Given the description of an element on the screen output the (x, y) to click on. 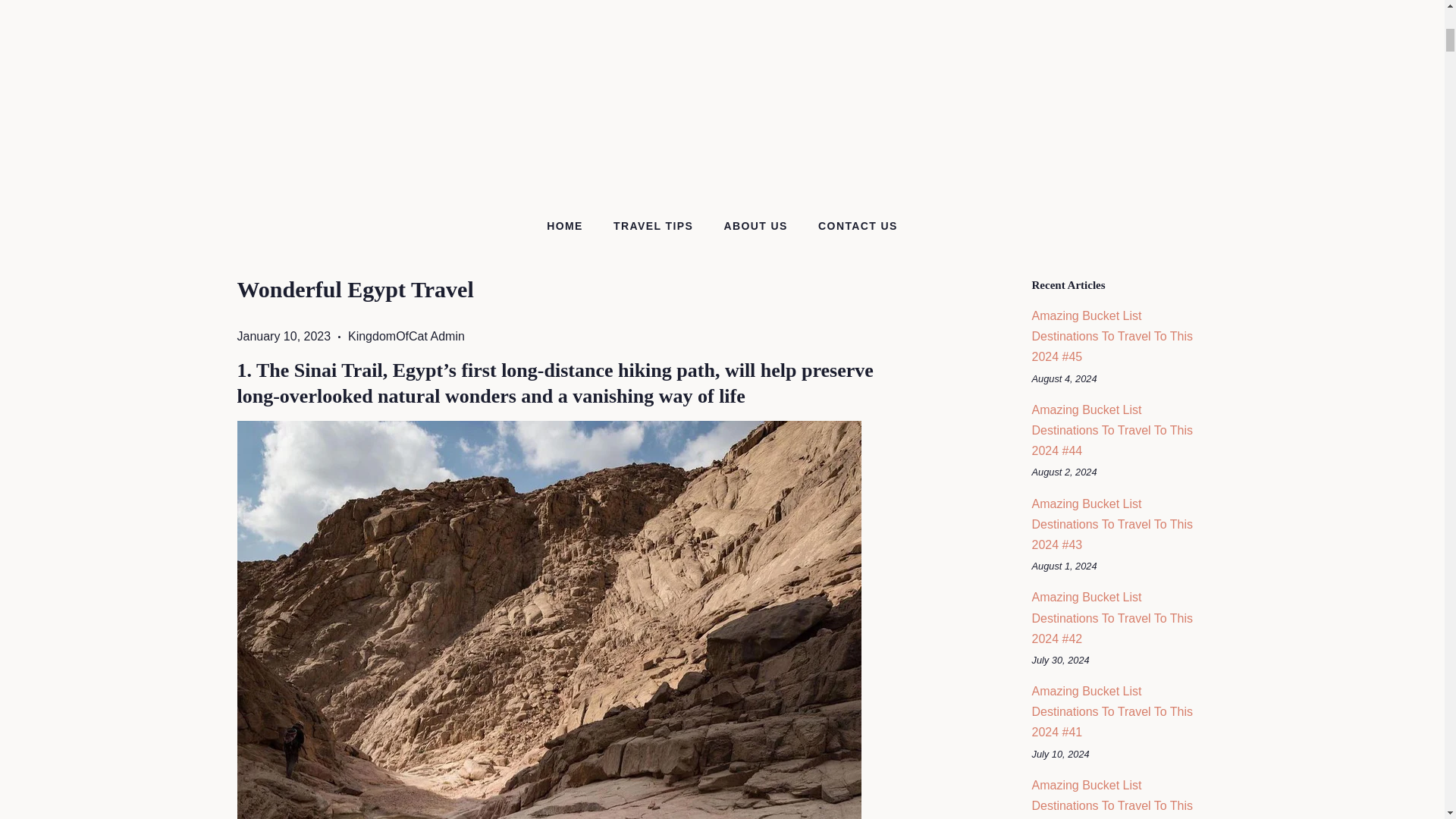
TRAVEL TIPS (654, 226)
CONTACT US (852, 226)
ABOUT US (756, 226)
HOME (572, 226)
